Given the description of an element on the screen output the (x, y) to click on. 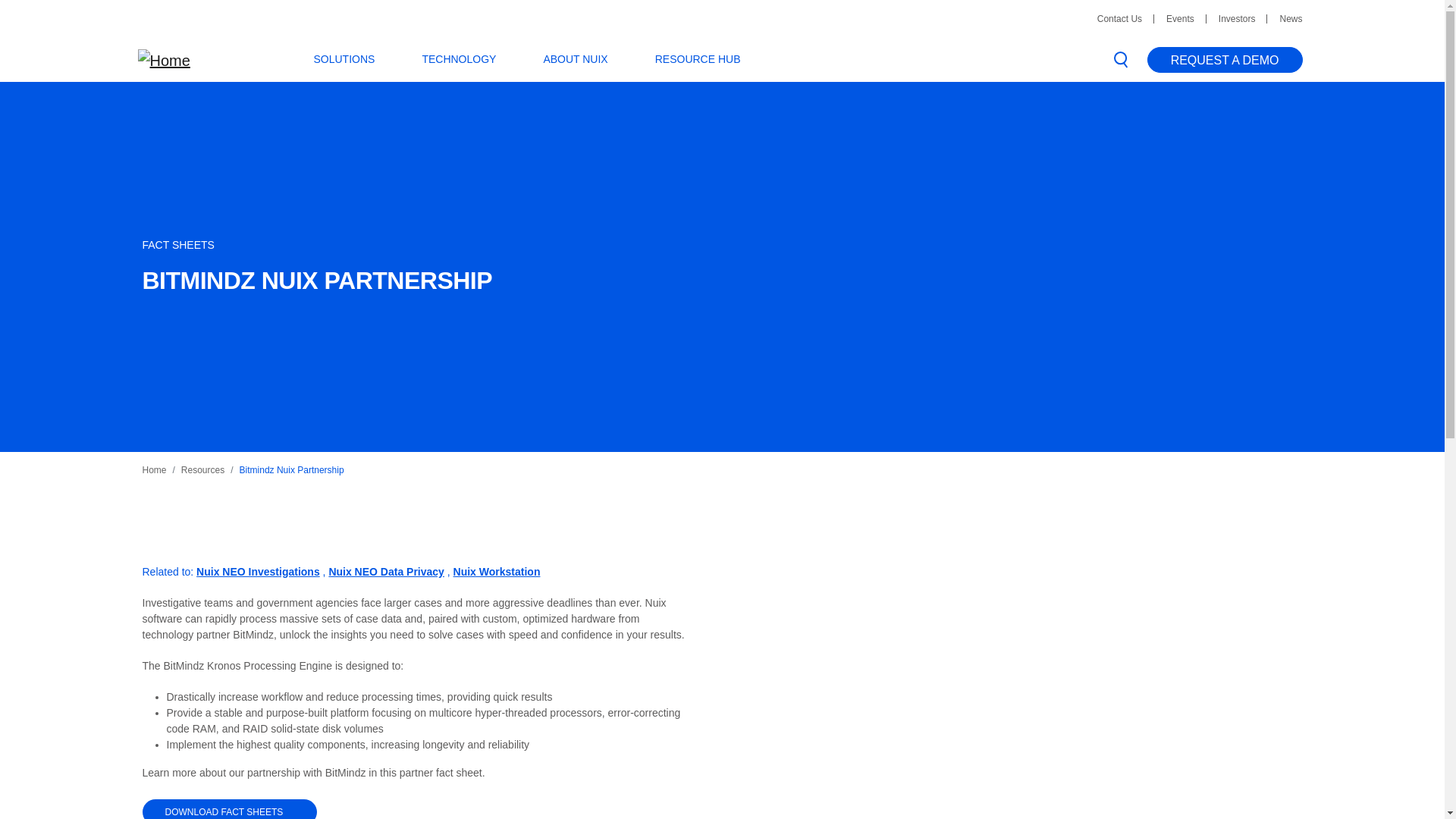
Home (164, 59)
TECHNOLOGY (469, 59)
Investors (1236, 18)
RESOURCE HUB (709, 59)
ABOUT NUIX (586, 59)
REQUEST A DEMO (1225, 59)
Events (1179, 18)
SOLUTIONS (355, 59)
Contact Us (1119, 18)
